Given the description of an element on the screen output the (x, y) to click on. 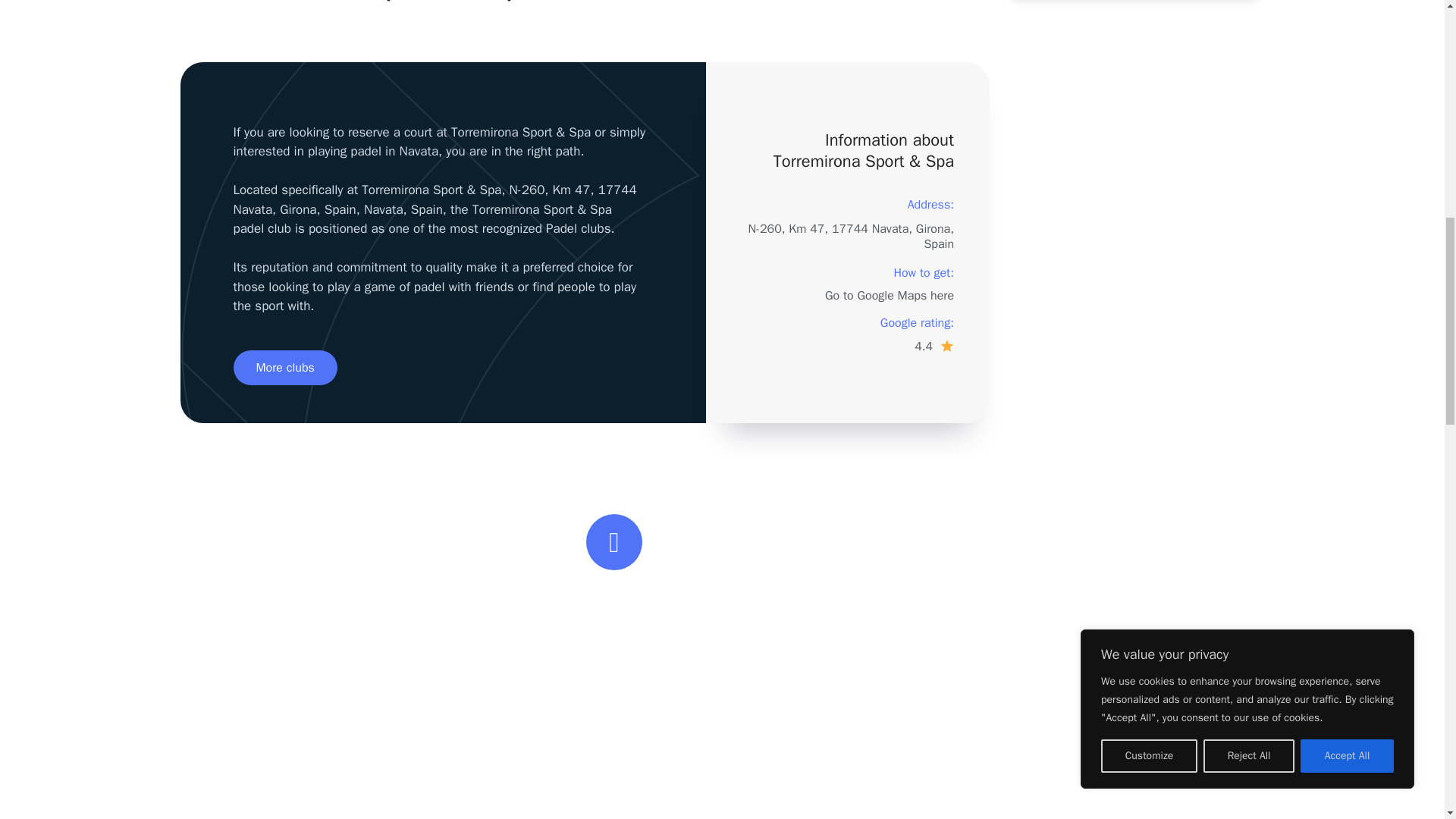
Go to Google Maps here (889, 295)
More clubs (284, 367)
